Given the description of an element on the screen output the (x, y) to click on. 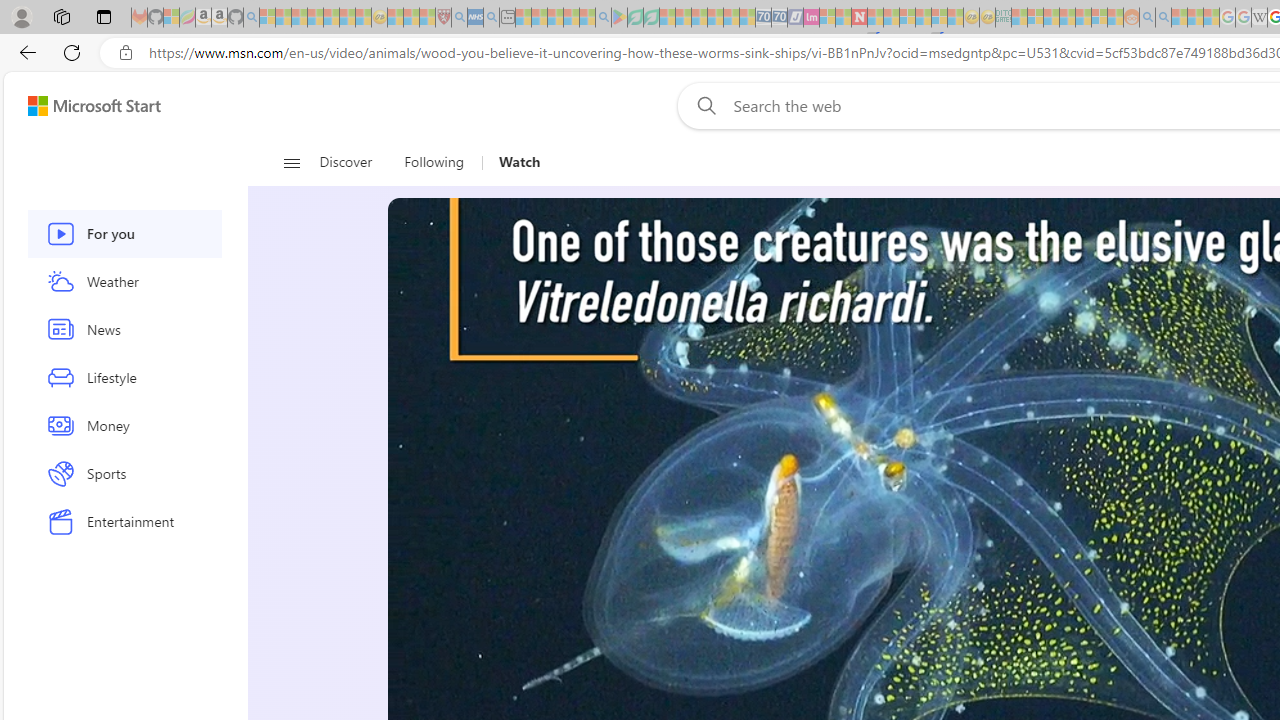
MSNBC - MSN - Sleeping (1019, 17)
Utah sues federal government - Search - Sleeping (1163, 17)
Latest Politics News & Archive | Newsweek.com - Sleeping (859, 17)
Local - MSN - Sleeping (427, 17)
Watch (519, 162)
